Given the description of an element on the screen output the (x, y) to click on. 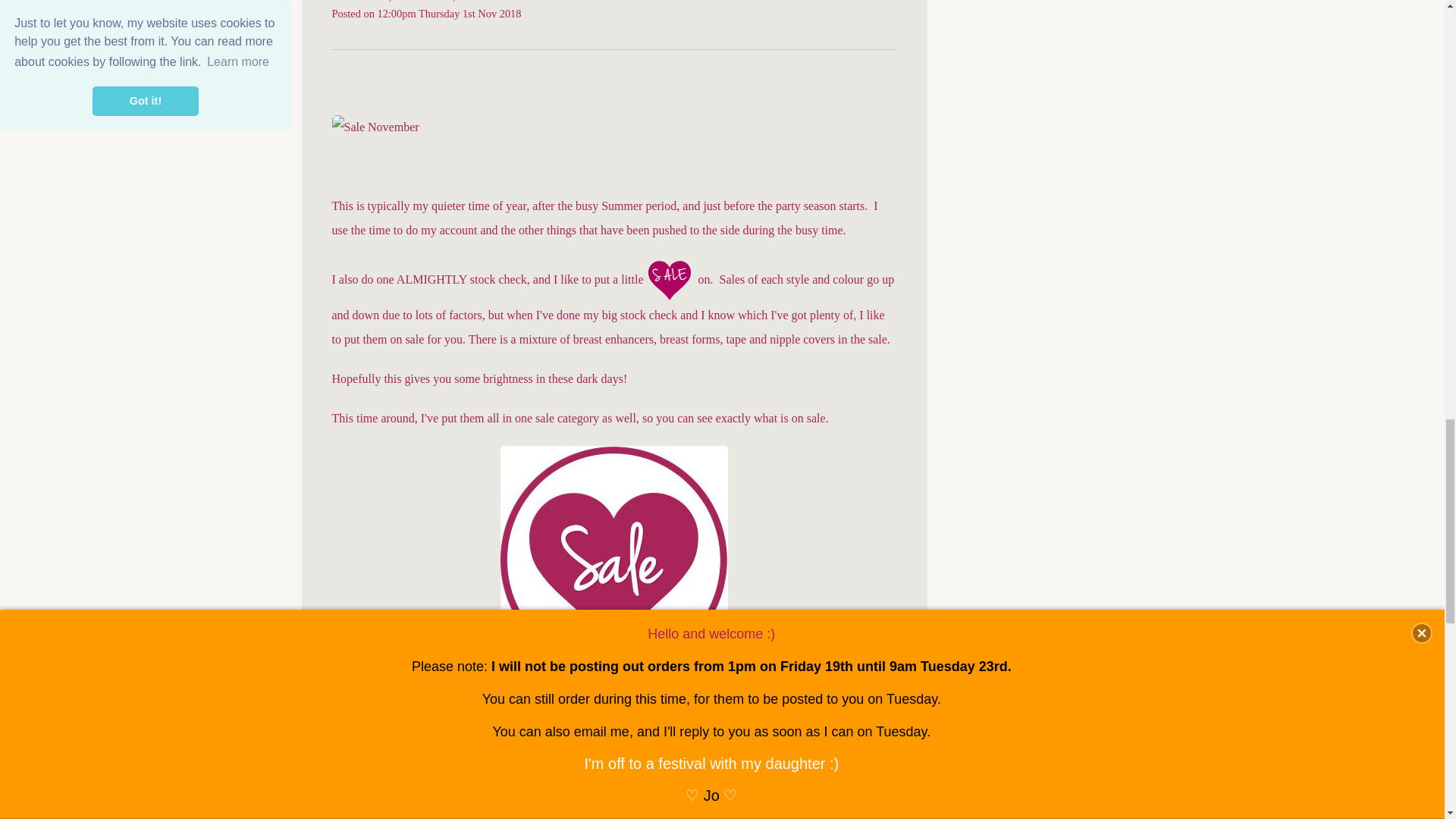
sign-2014-8-20-15.2.46 (390, 785)
SALE items (614, 557)
Sale November (375, 127)
sale 60x60 (669, 280)
Sale (614, 559)
